Given the description of an element on the screen output the (x, y) to click on. 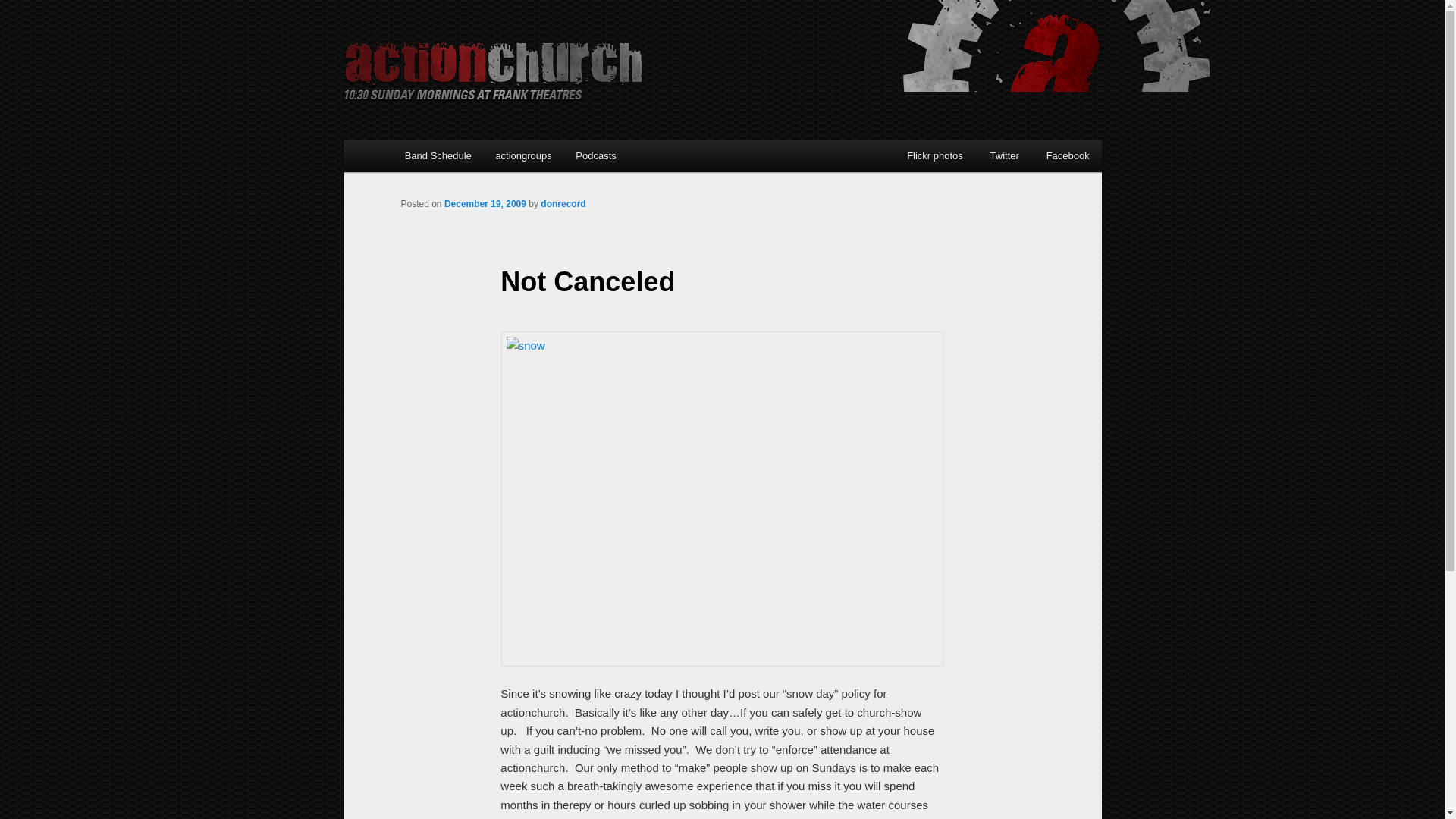
actionchurch (490, 66)
Bands playing at actionchurch at Frank Theatres in York, PA (438, 155)
Skip to secondary content (479, 158)
View all posts by donrecord (562, 204)
Skip to secondary content (479, 158)
Twitter (1010, 155)
actiongroups (523, 155)
Skip to primary content (472, 158)
